Given the description of an element on the screen output the (x, y) to click on. 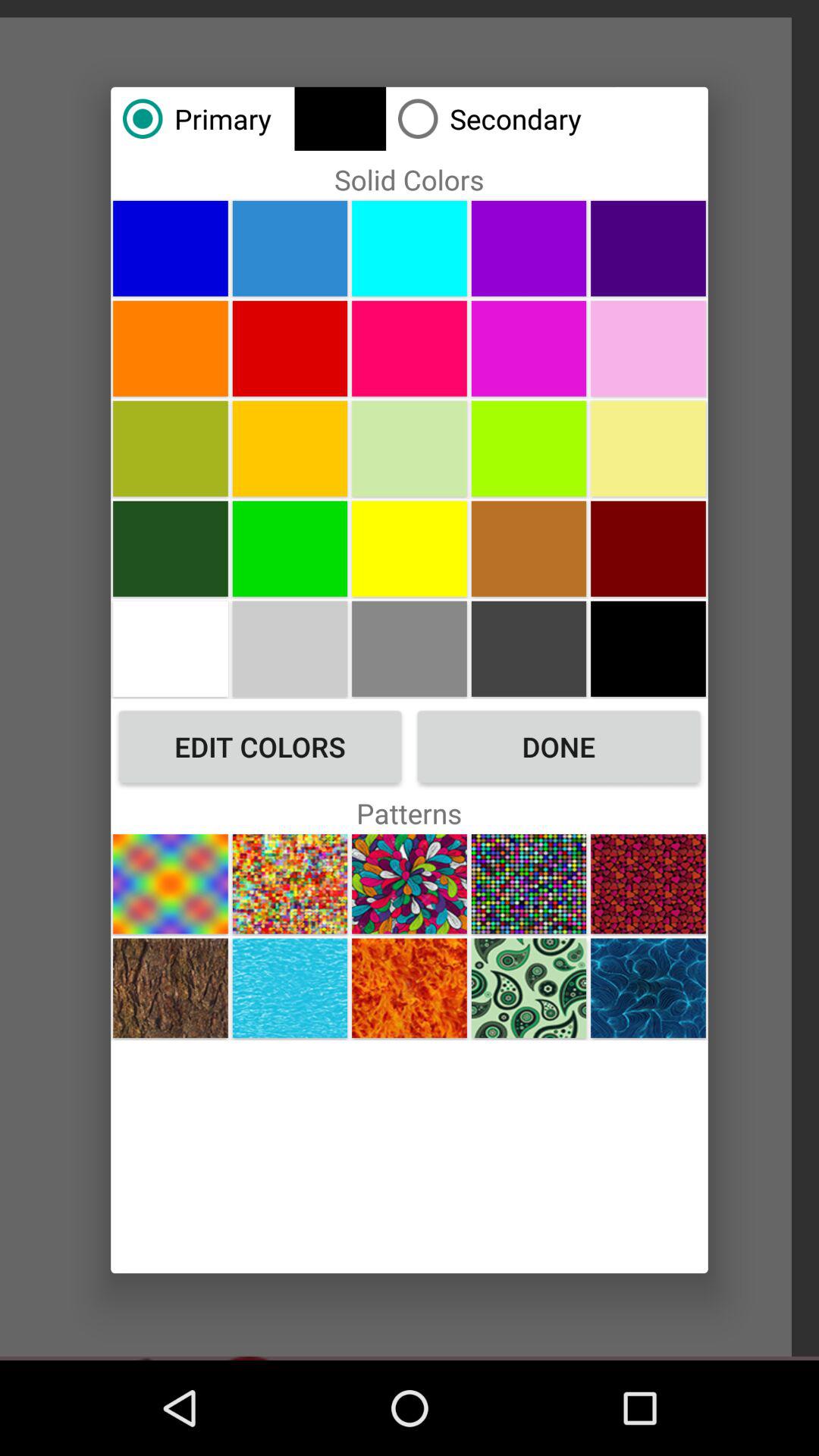
select color (409, 348)
